Given the description of an element on the screen output the (x, y) to click on. 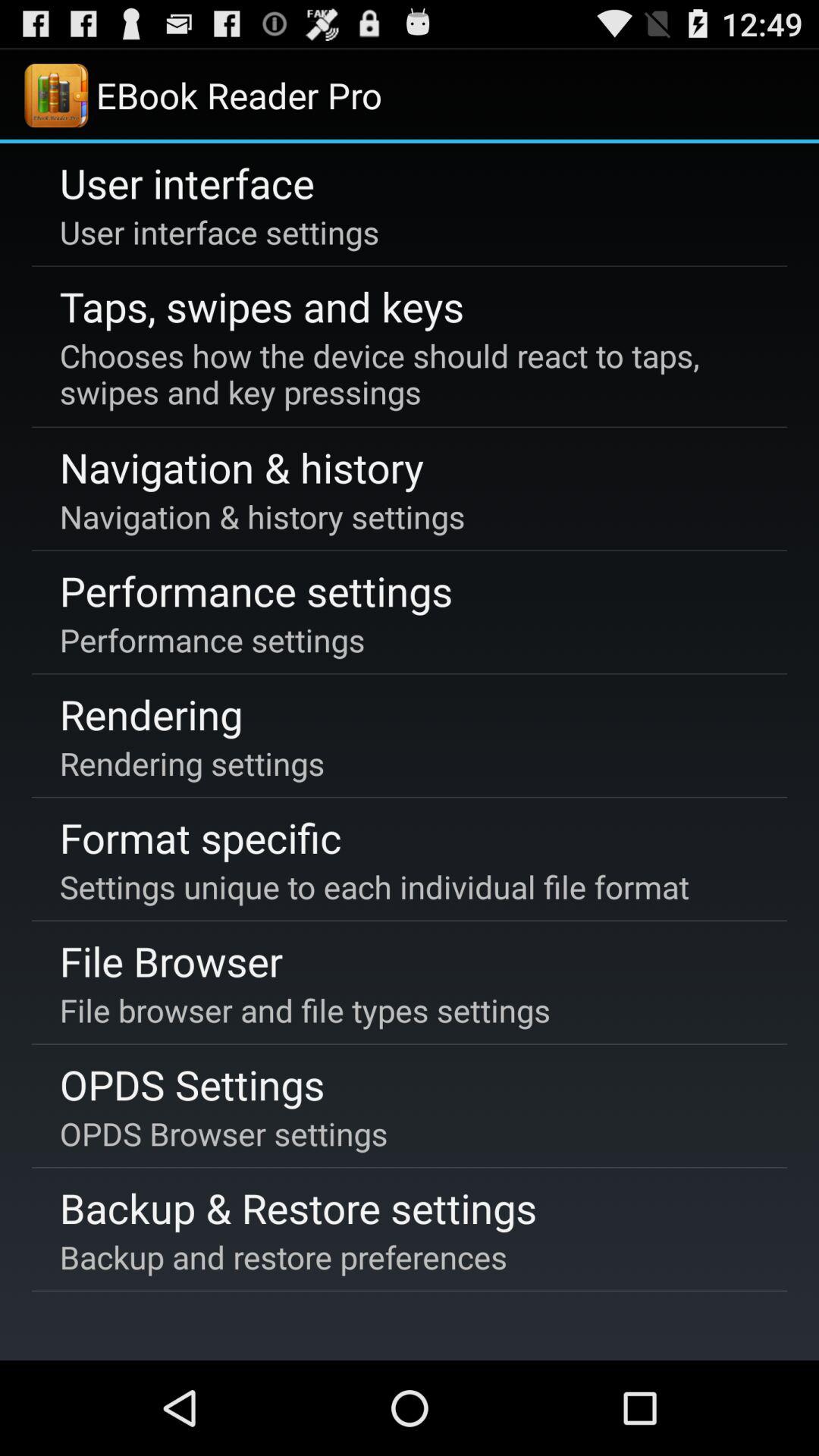
press the icon at the center (374, 886)
